Given the description of an element on the screen output the (x, y) to click on. 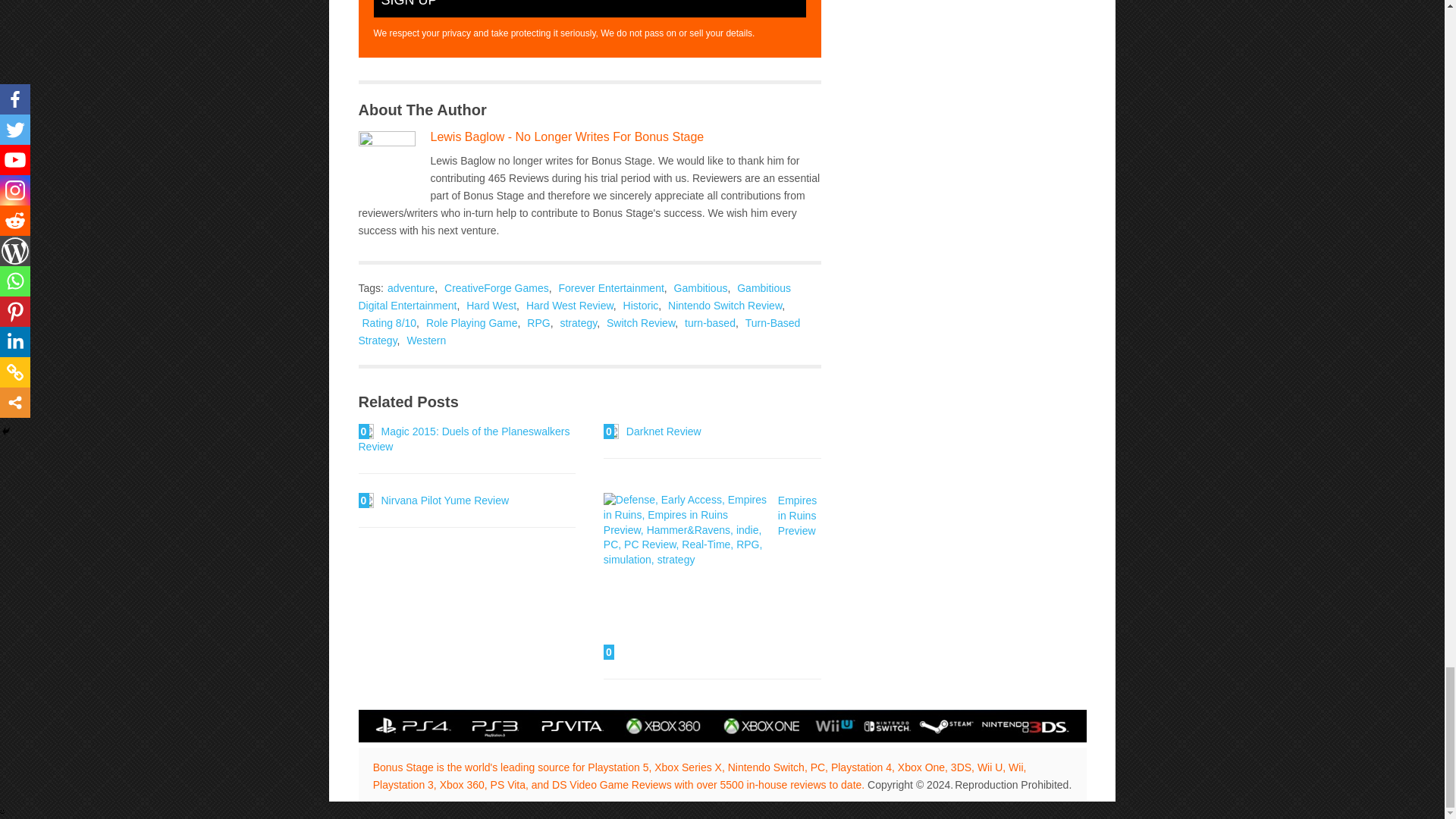
Sign Up (588, 8)
